Given the description of an element on the screen output the (x, y) to click on. 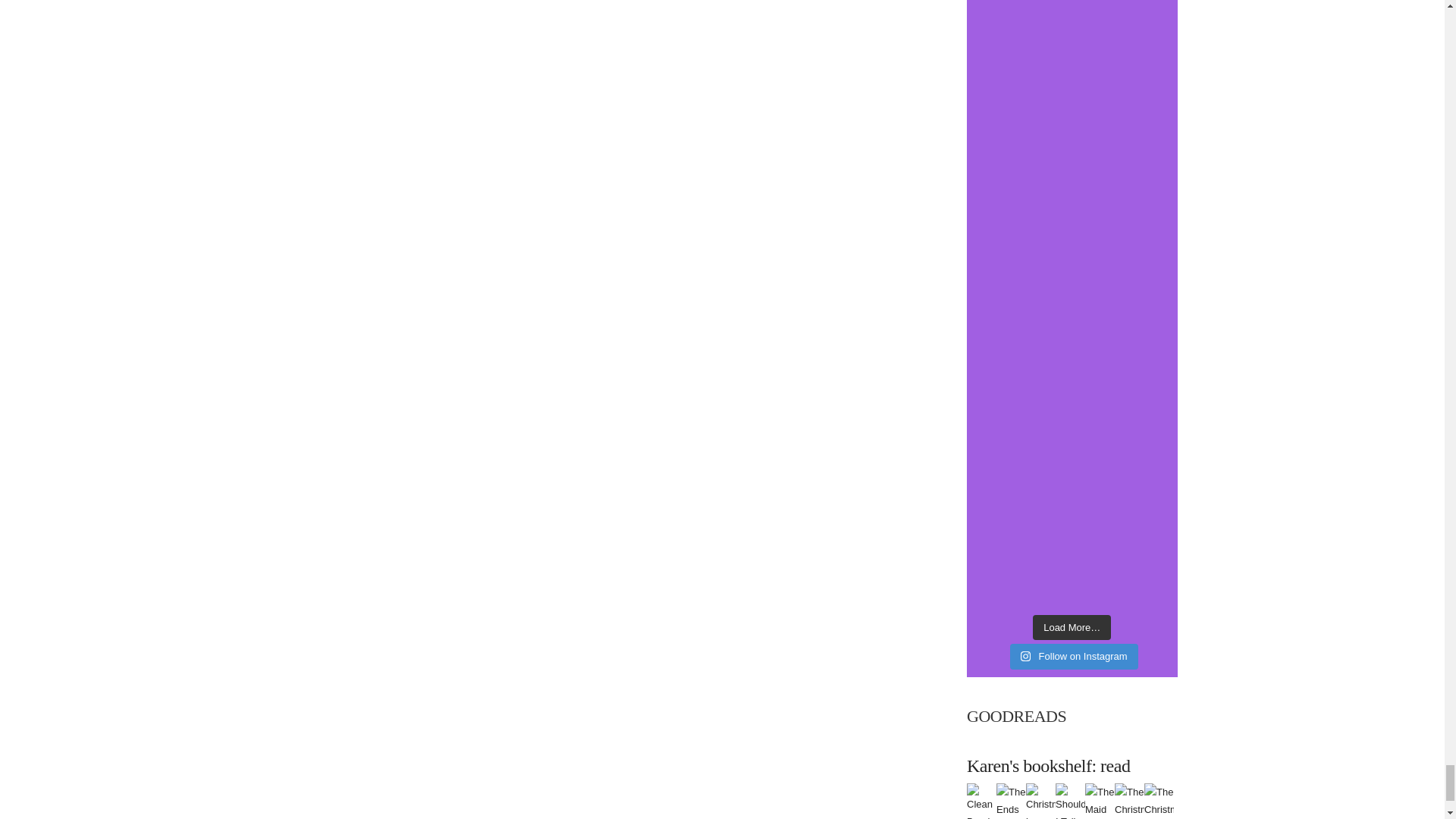
The Ends of the Earth (1010, 815)
The Maid (1099, 799)
Clean Break (980, 806)
The Christmas Carrolls (1129, 808)
